Given the description of an element on the screen output the (x, y) to click on. 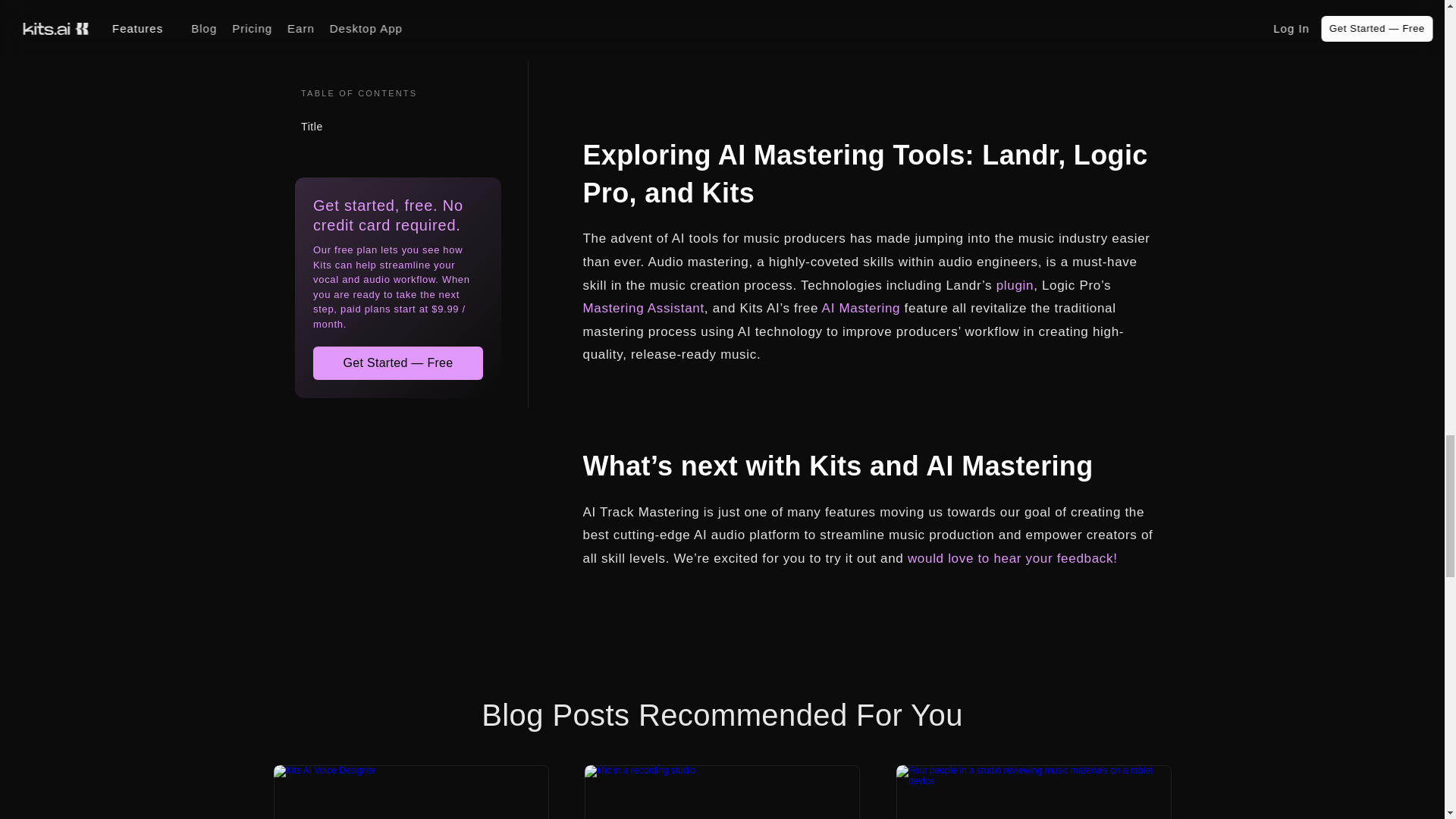
would love to hear your feedback! (1012, 558)
Mastering Assistant (642, 308)
plugin (1014, 285)
AI Mastering (861, 308)
